Given the description of an element on the screen output the (x, y) to click on. 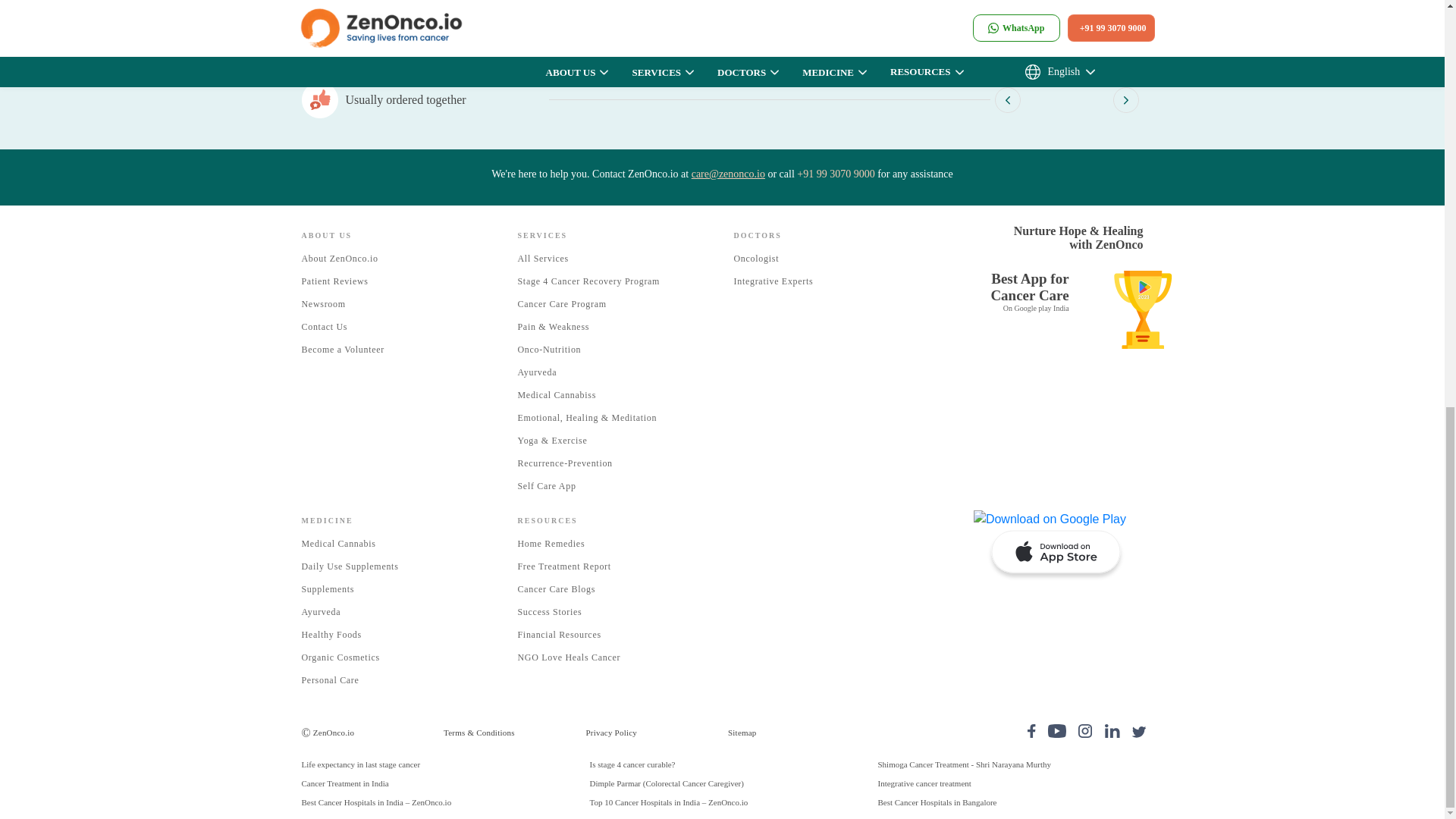
Contact Us (324, 326)
About  ZenOnco.io (339, 258)
Patient Reviews (334, 281)
Newsroom (323, 303)
